Given the description of an element on the screen output the (x, y) to click on. 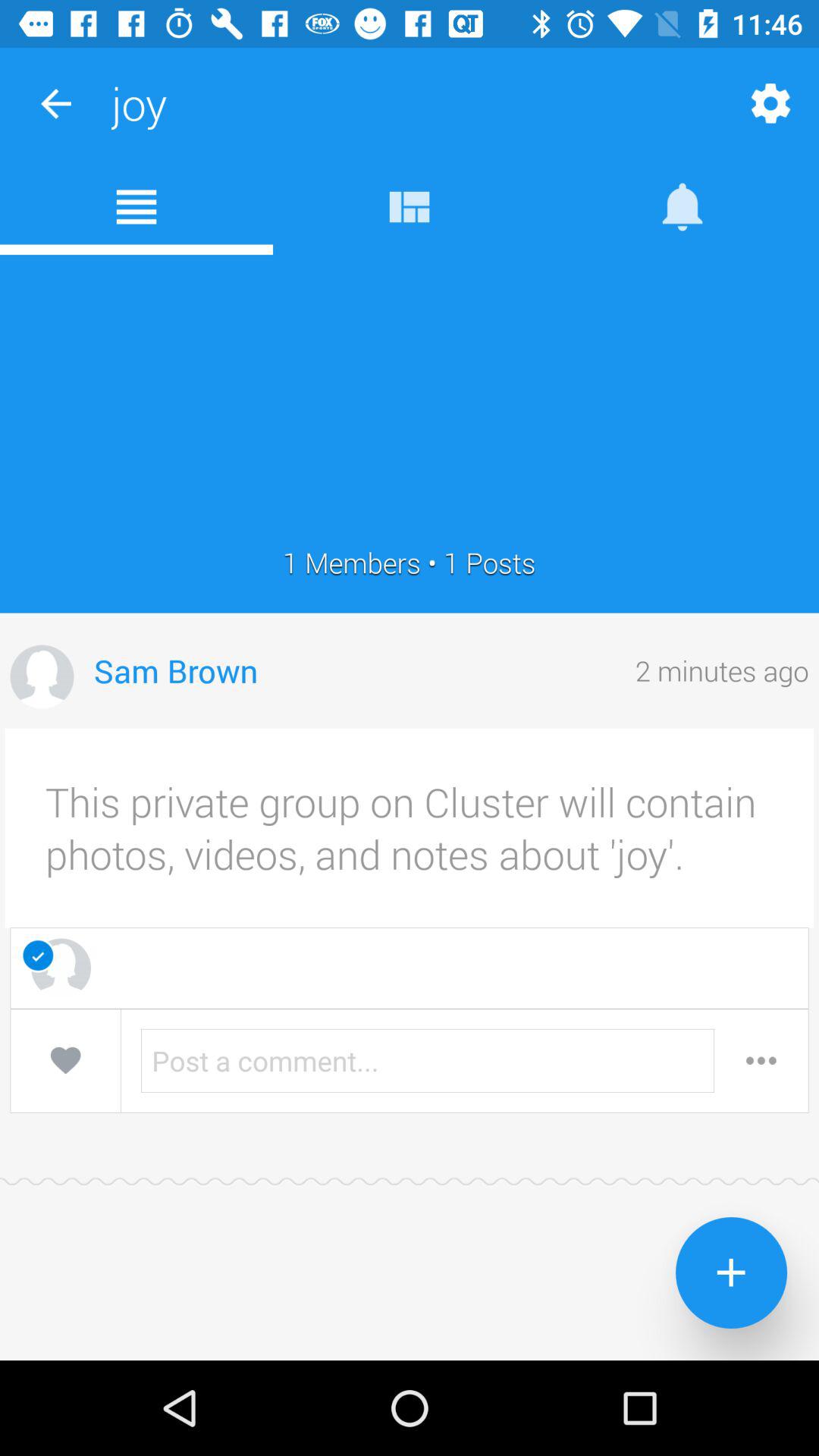
picture button (41, 676)
